Given the description of an element on the screen output the (x, y) to click on. 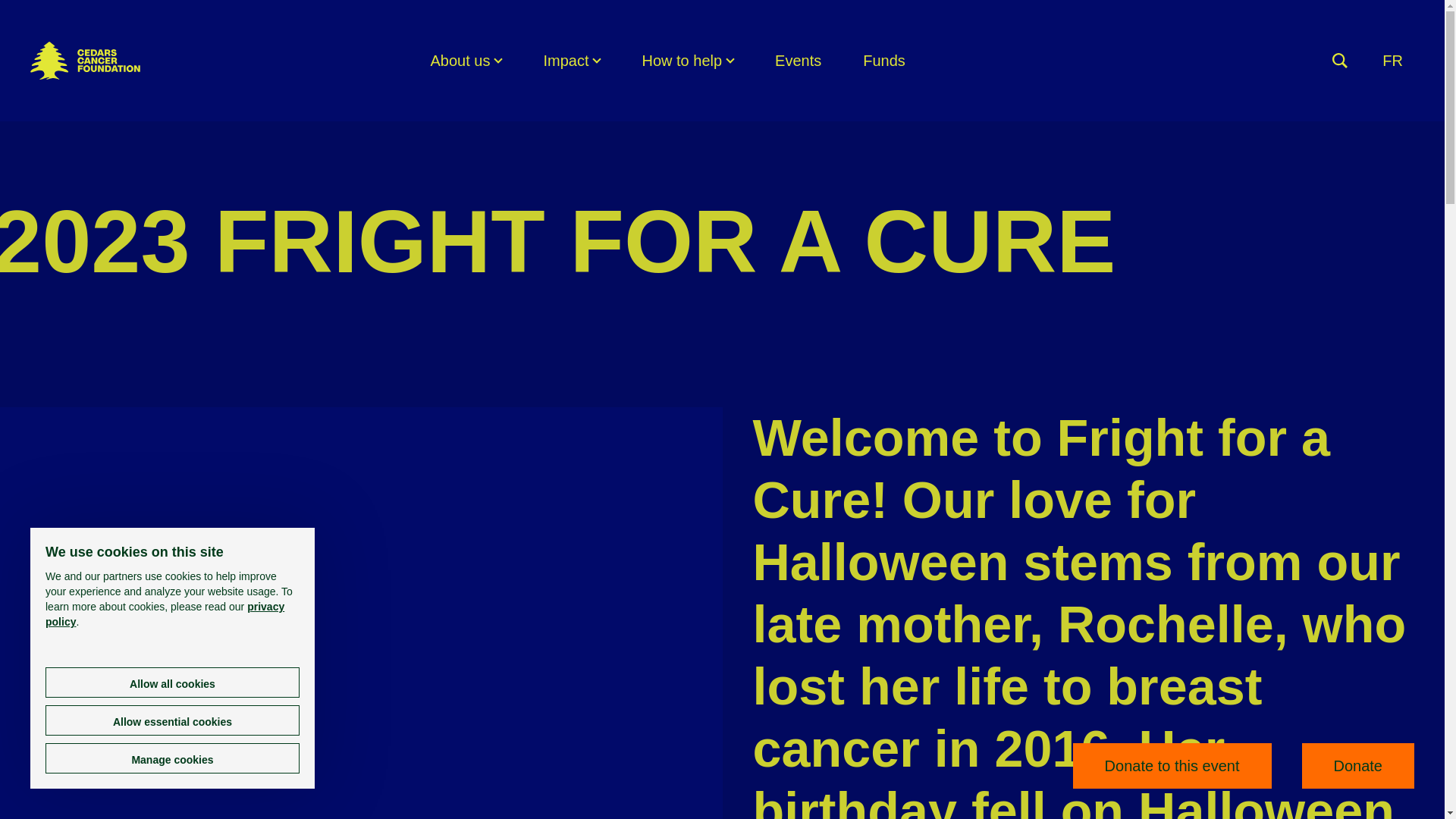
Funds (884, 60)
Cedars Cancer Foundation (84, 60)
Impact (571, 60)
How to help (687, 60)
Events (797, 60)
Allow essential cookies (172, 720)
FR (1392, 60)
privacy policy (164, 614)
Allow all cookies (172, 682)
About us (464, 60)
Manage cookies (172, 757)
